Given the description of an element on the screen output the (x, y) to click on. 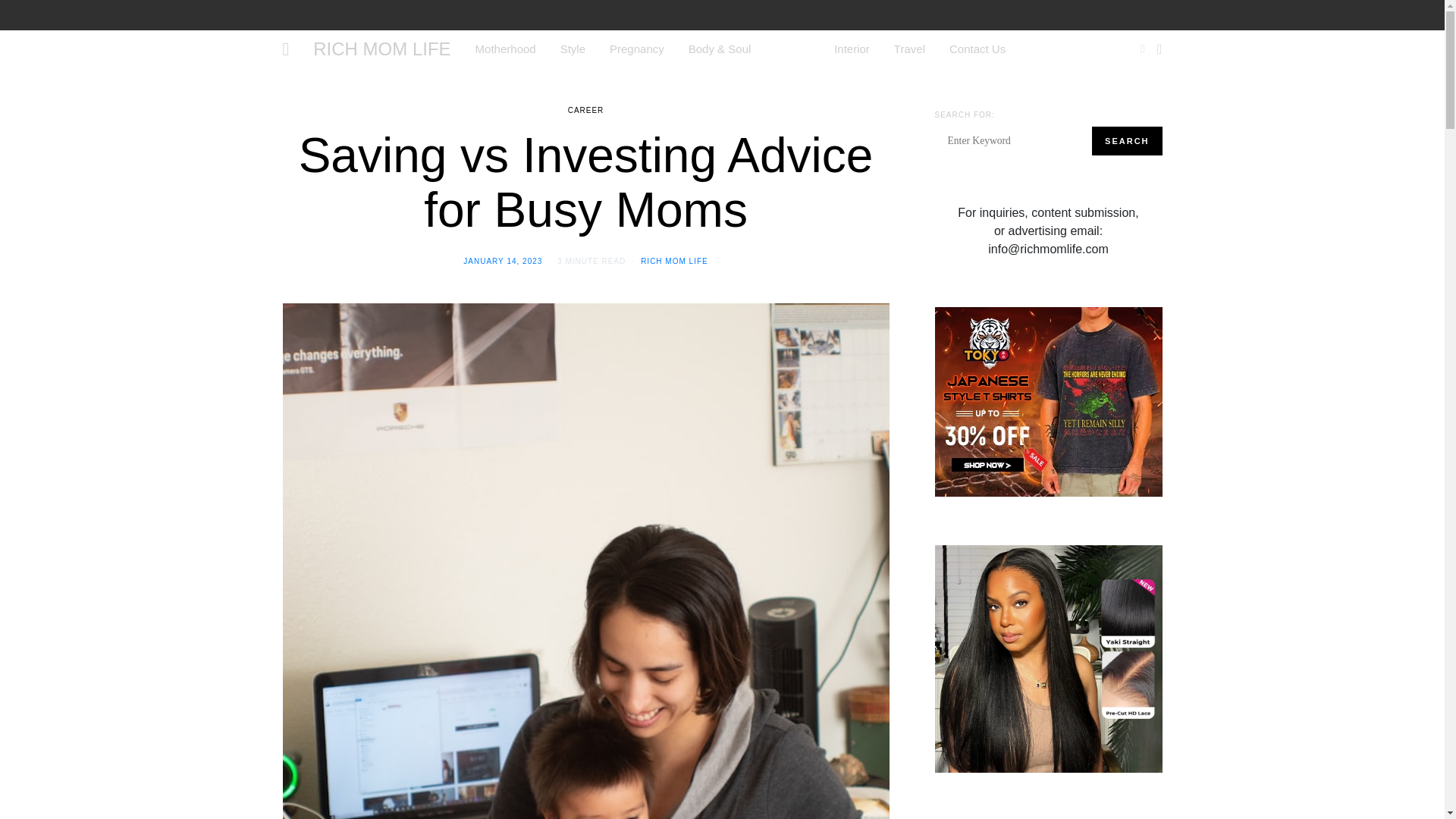
Travel (908, 48)
View all posts by Rich Mom Life (673, 261)
Career (791, 48)
Pregnancy (636, 48)
CAREER (585, 110)
JANUARY 14, 2023 (502, 261)
Interior (851, 48)
Contact Us (977, 48)
Motherhood (505, 48)
RICH MOM LIFE (381, 48)
Japanese t shirts (1047, 400)
Style (572, 48)
RICH MOM LIFE (673, 261)
